Given the description of an element on the screen output the (x, y) to click on. 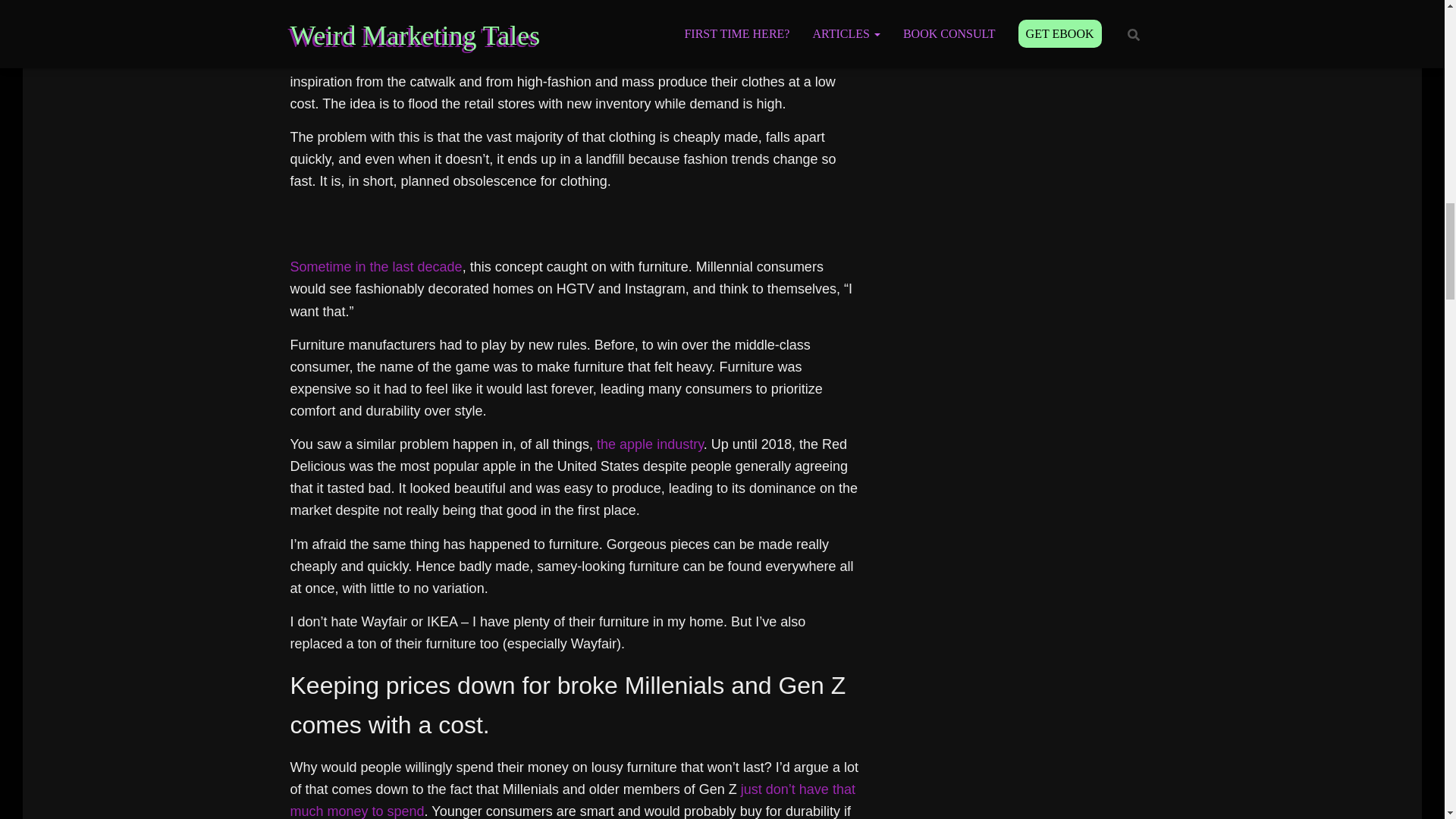
Sometime in the last decade (375, 266)
the apple industry (649, 444)
